Given the description of an element on the screen output the (x, y) to click on. 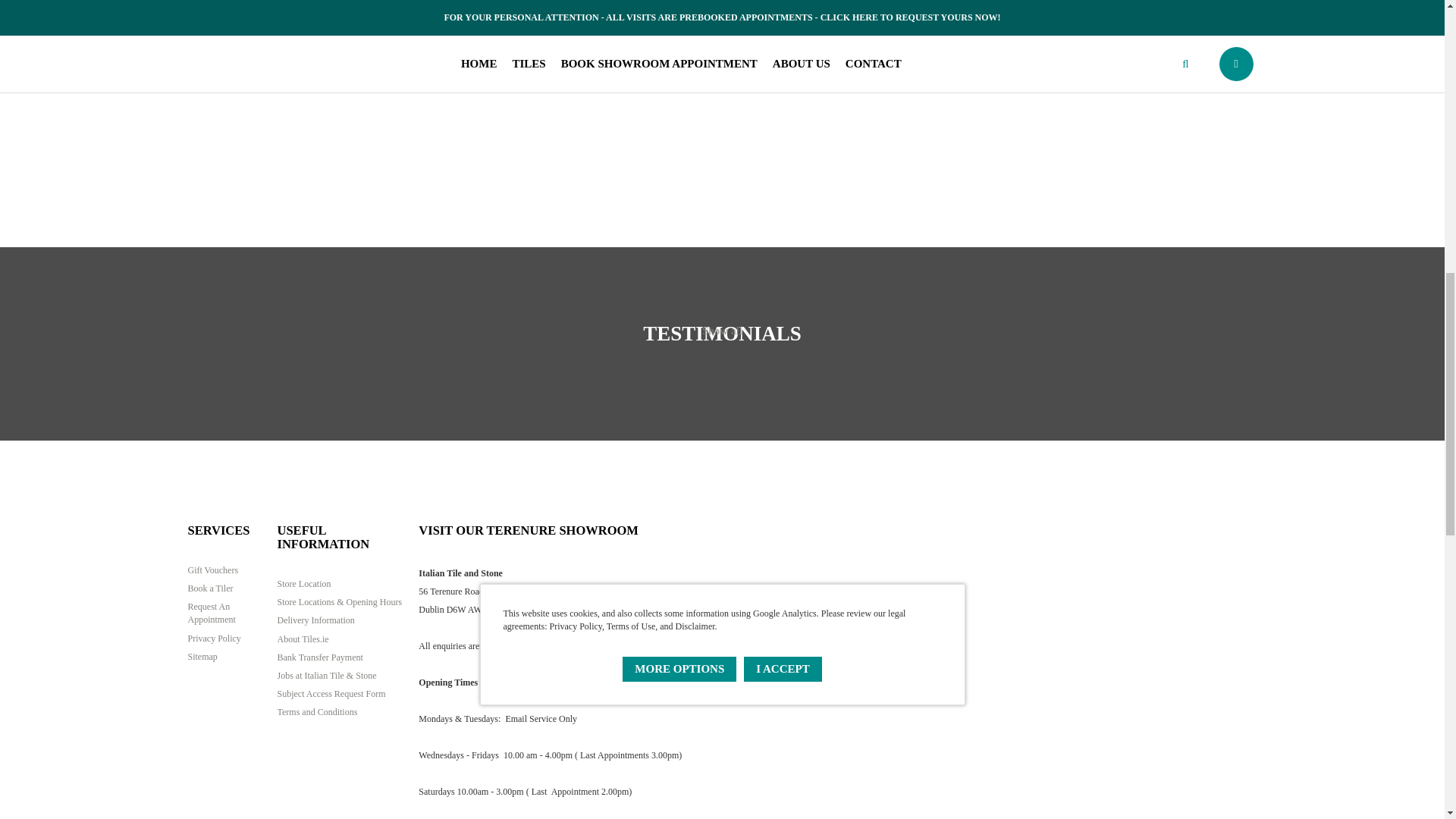
BROWSE TILES BY ROOM (722, 112)
ONLINE WEB SHOP (1203, 112)
Request An Appointment (228, 613)
Show all (722, 343)
Book a Tiler (228, 588)
Privacy Policy (228, 638)
Gift Vouchers (228, 570)
BROWSE BY TILES STYLE (240, 112)
